Given the description of an element on the screen output the (x, y) to click on. 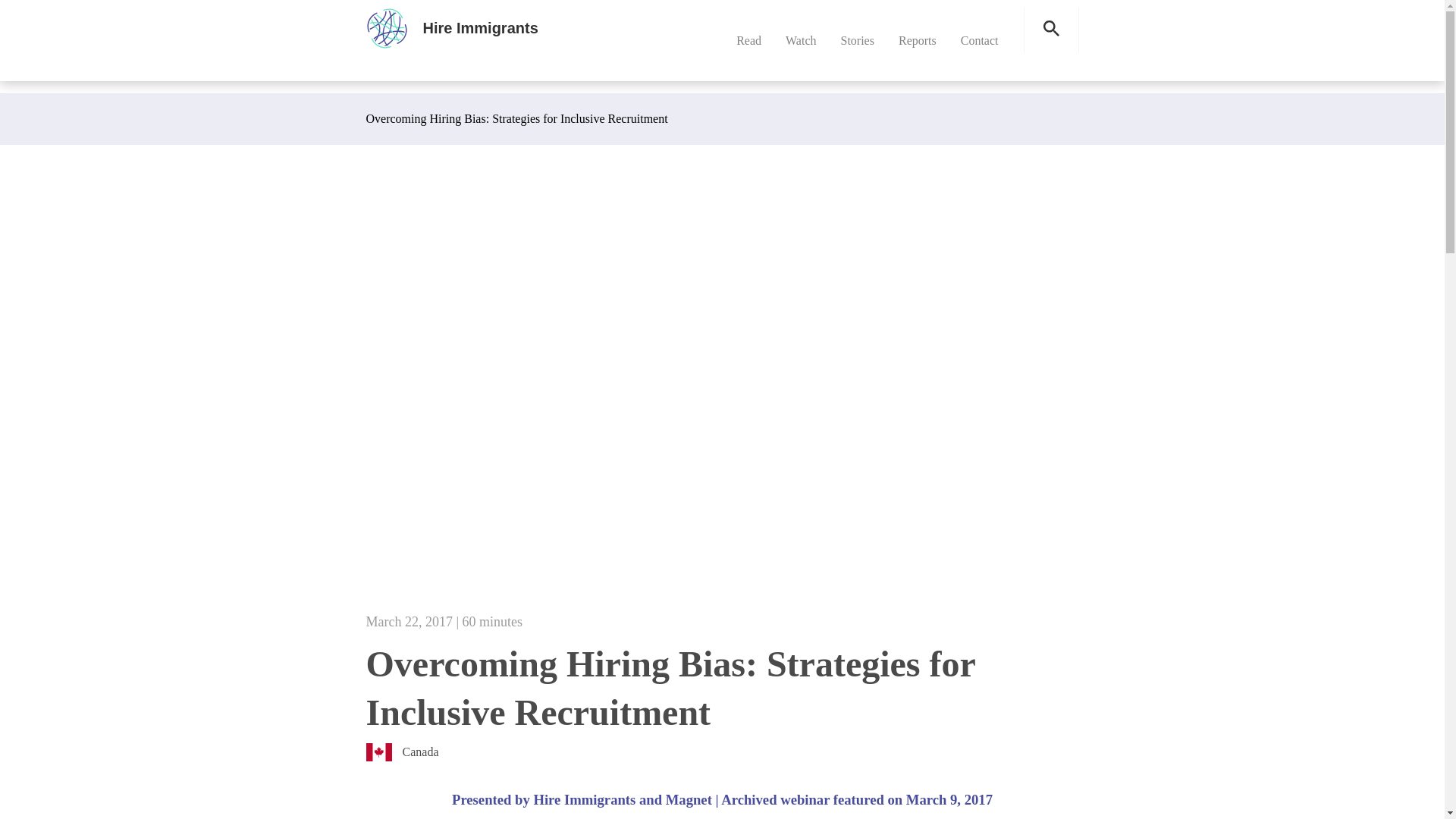
Watch (800, 40)
Reports (917, 40)
Contact (979, 40)
Hire Immigrants (480, 27)
Stories (856, 40)
Read (748, 40)
